Given the description of an element on the screen output the (x, y) to click on. 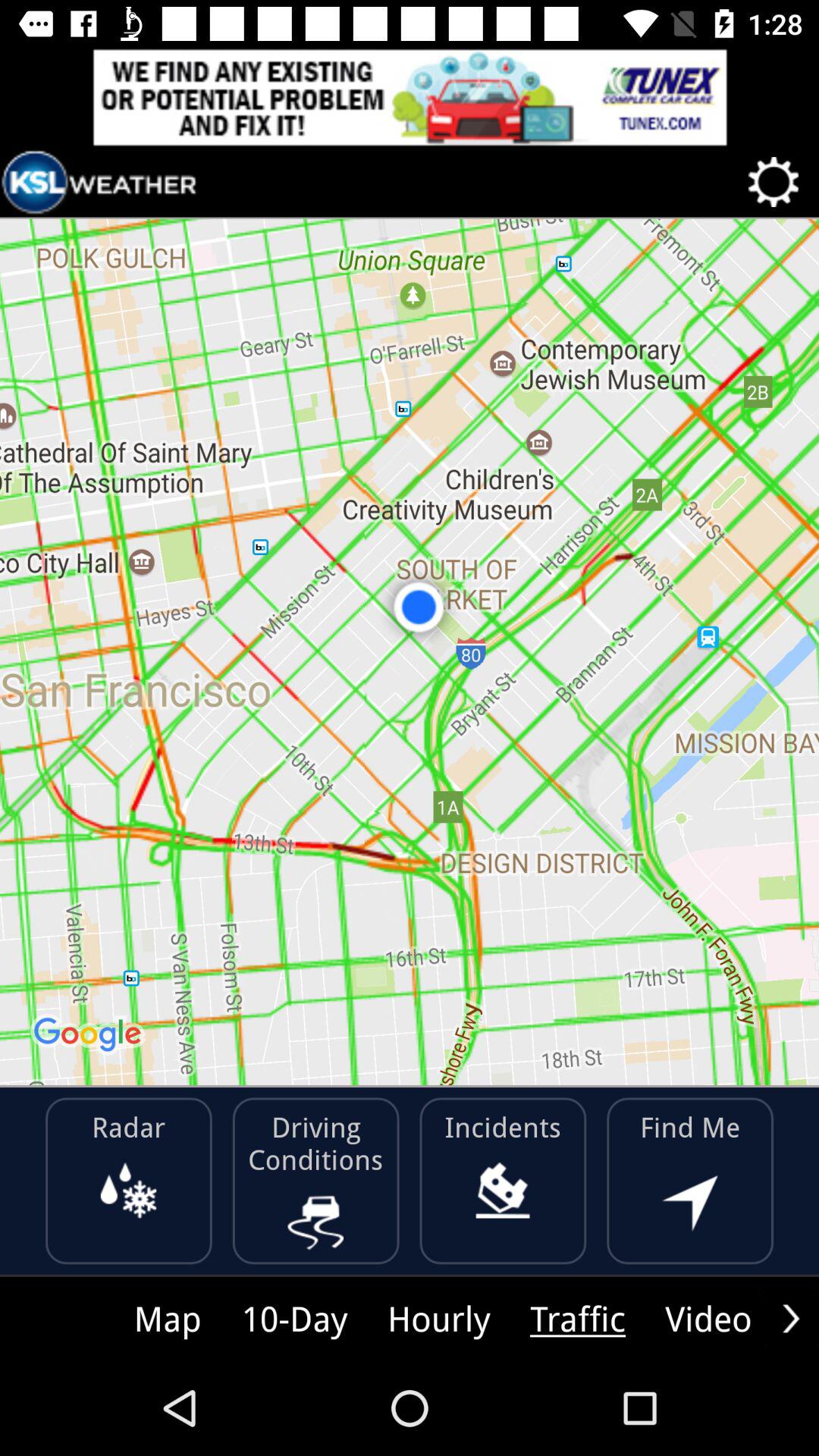
turn on icon at the top left corner (99, 182)
